Given the description of an element on the screen output the (x, y) to click on. 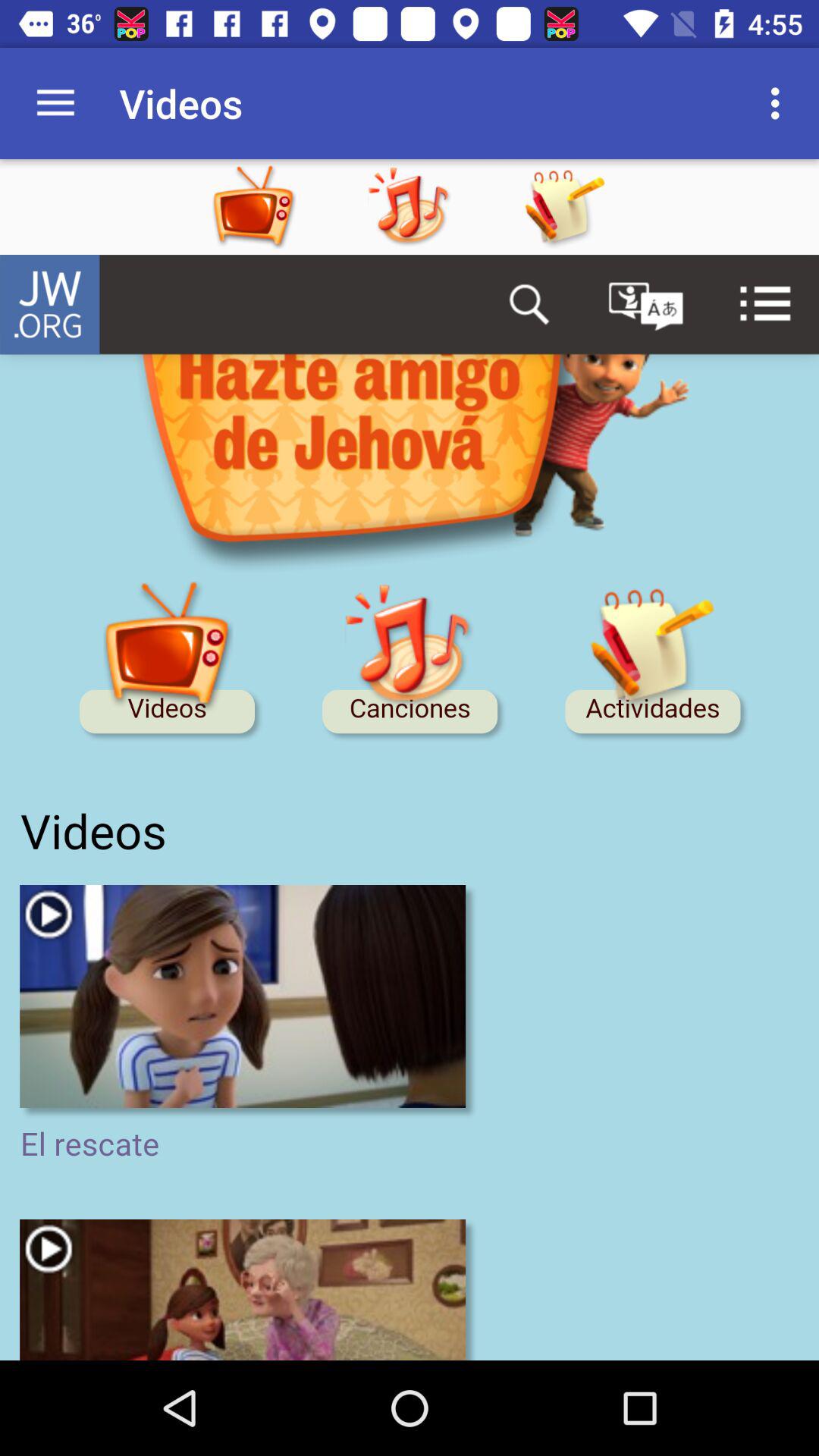
opens a music tab (438, 206)
